Given the description of an element on the screen output the (x, y) to click on. 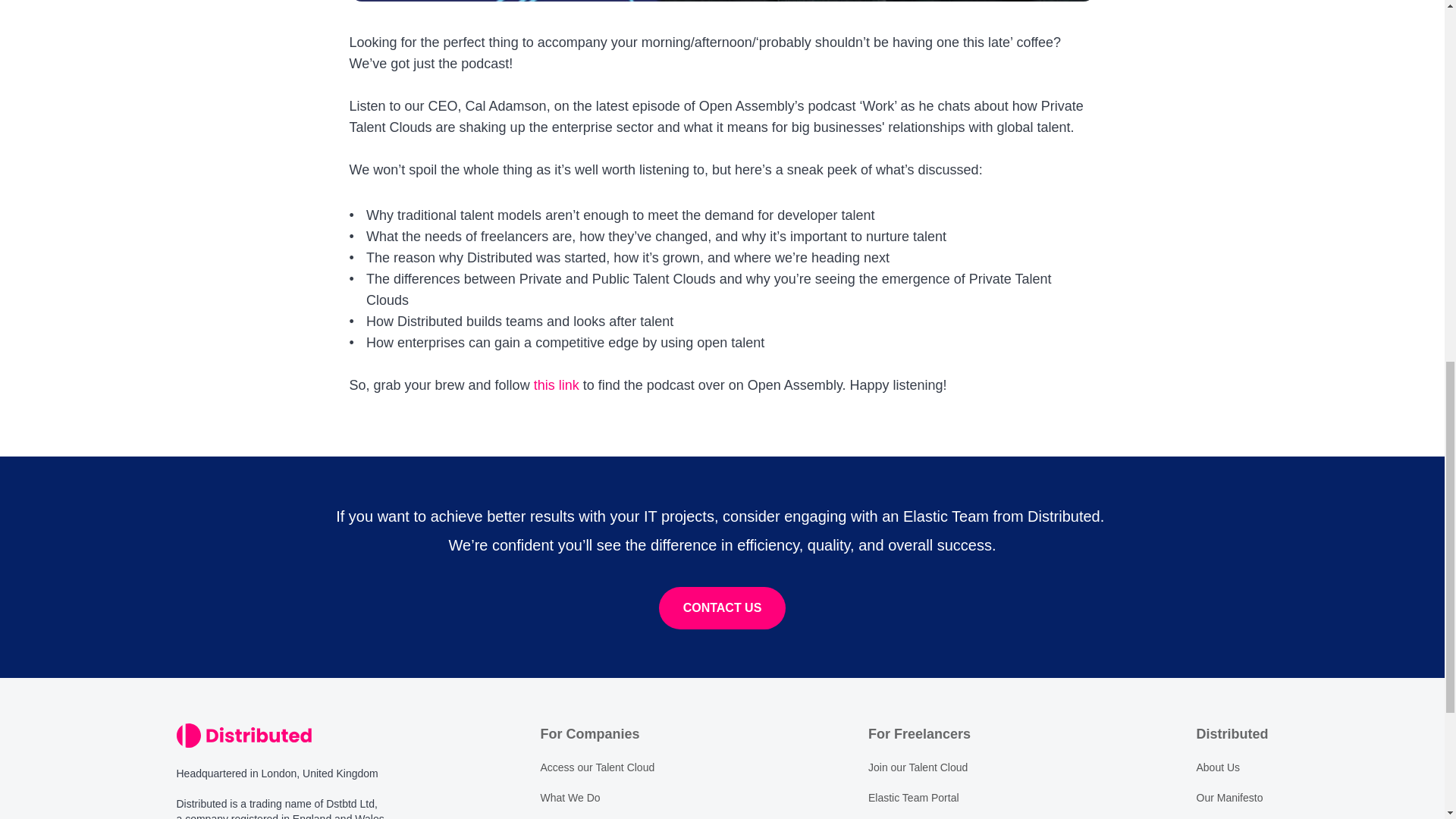
Join our Talent Cloud (917, 767)
Access our Talent Cloud (596, 767)
What We Do (569, 797)
About Us (1218, 767)
Elastic Team Portal (913, 797)
CONTACT US (722, 608)
this link (556, 385)
Our Manifesto (1229, 797)
